Given the description of an element on the screen output the (x, y) to click on. 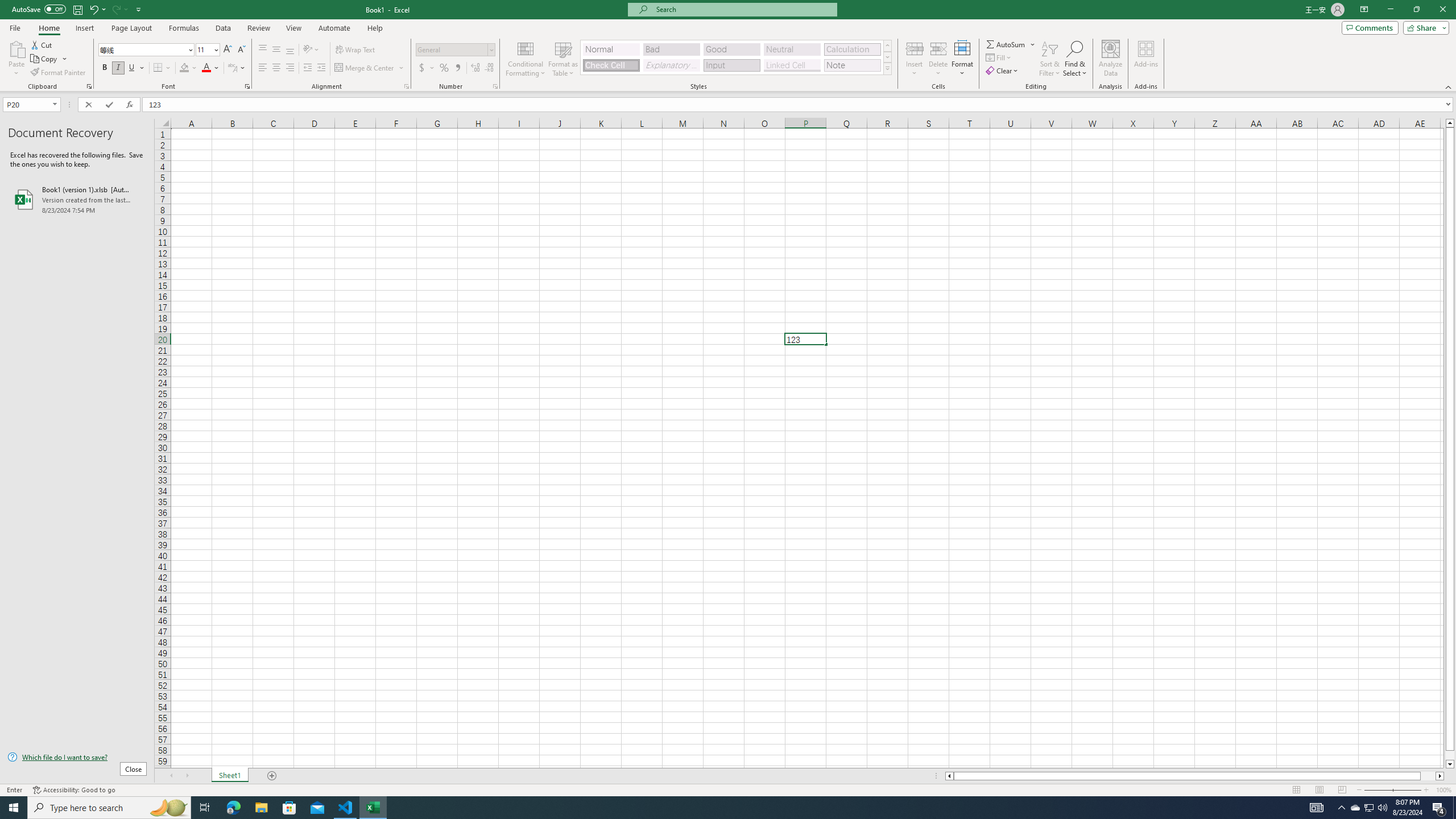
Edit Cell (805, 339)
Copy (45, 58)
Page down (1449, 755)
Note (852, 65)
Format Cell Alignment (405, 85)
Help (374, 28)
Paste (16, 58)
Italic (118, 67)
Collapse the Ribbon (1448, 86)
Underline (136, 67)
Bold (104, 67)
Underline (131, 67)
Zoom In (1426, 790)
Microsoft search (742, 9)
